Given the description of an element on the screen output the (x, y) to click on. 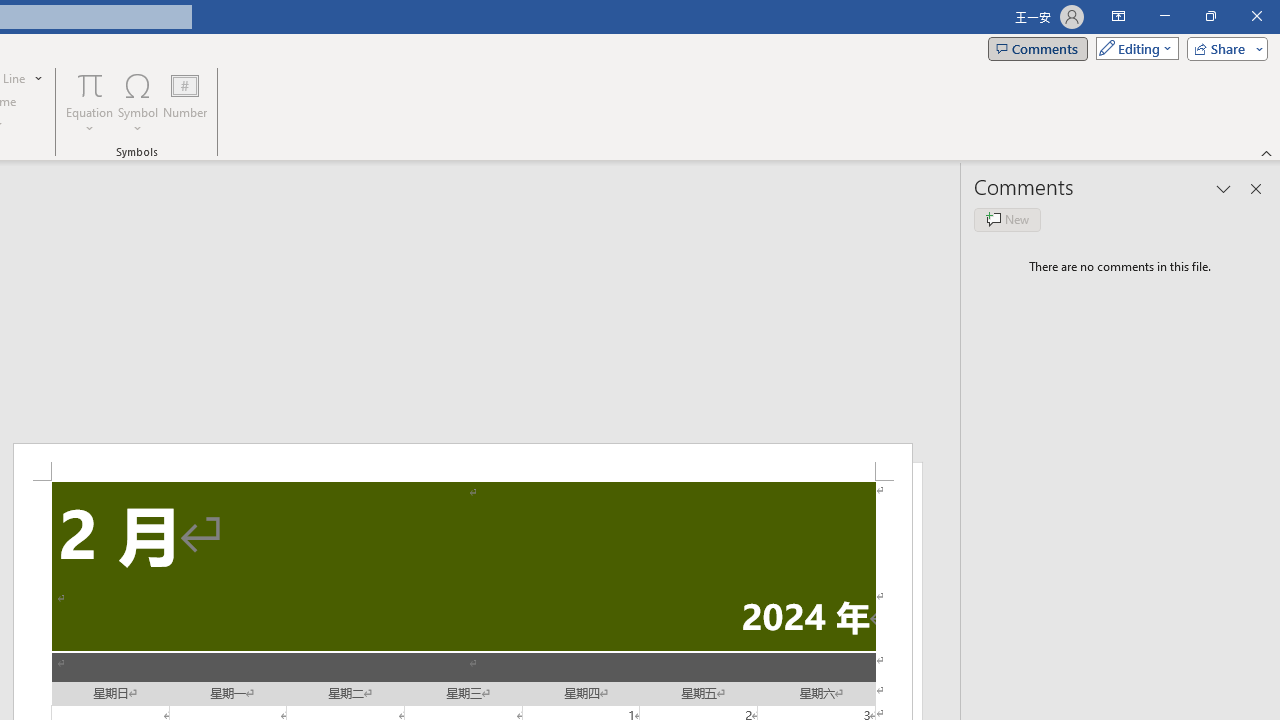
Equation (90, 84)
Mode (1133, 47)
